Given the description of an element on the screen output the (x, y) to click on. 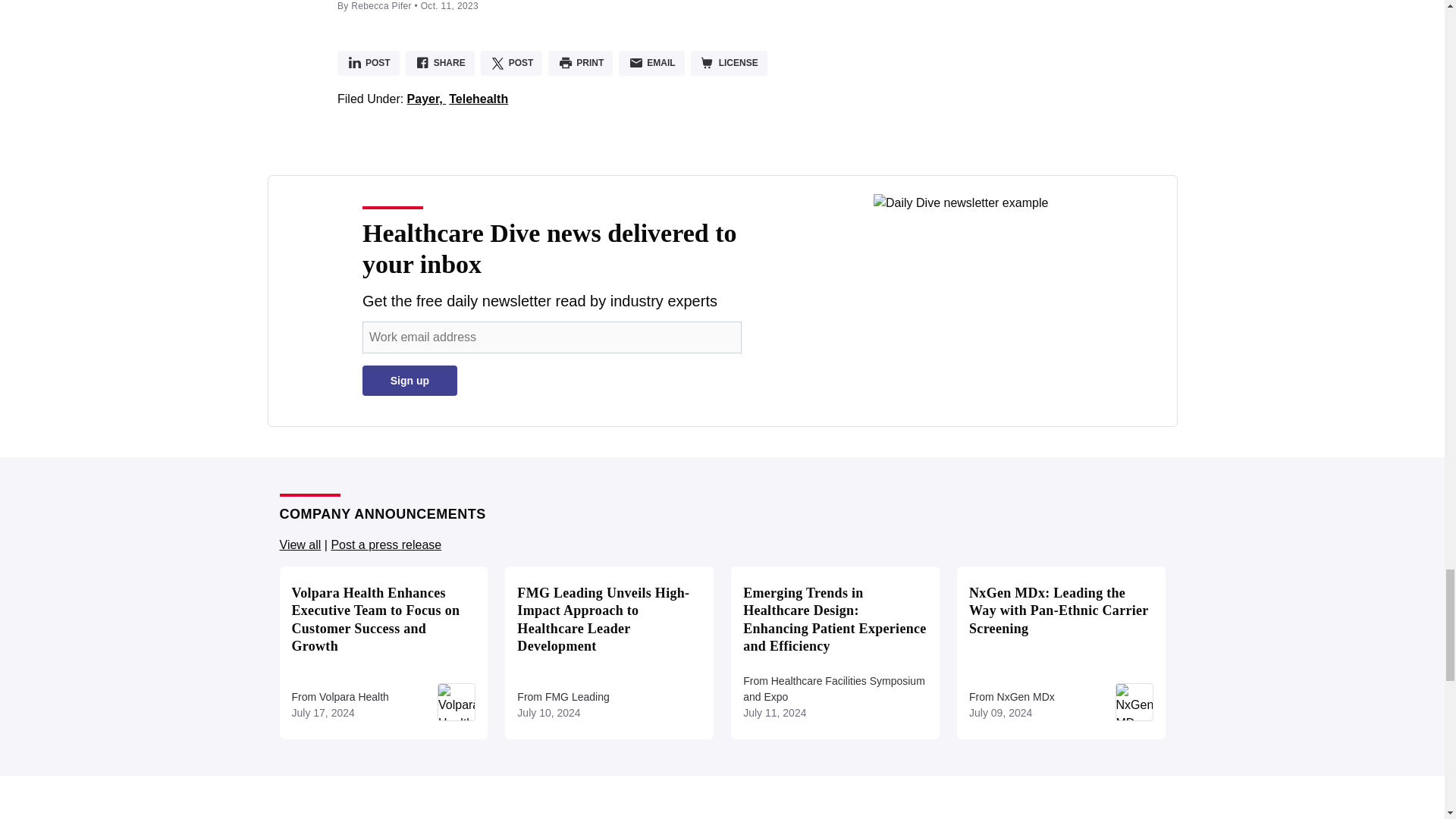
Rebecca Pifer (381, 5)
